Given the description of an element on the screen output the (x, y) to click on. 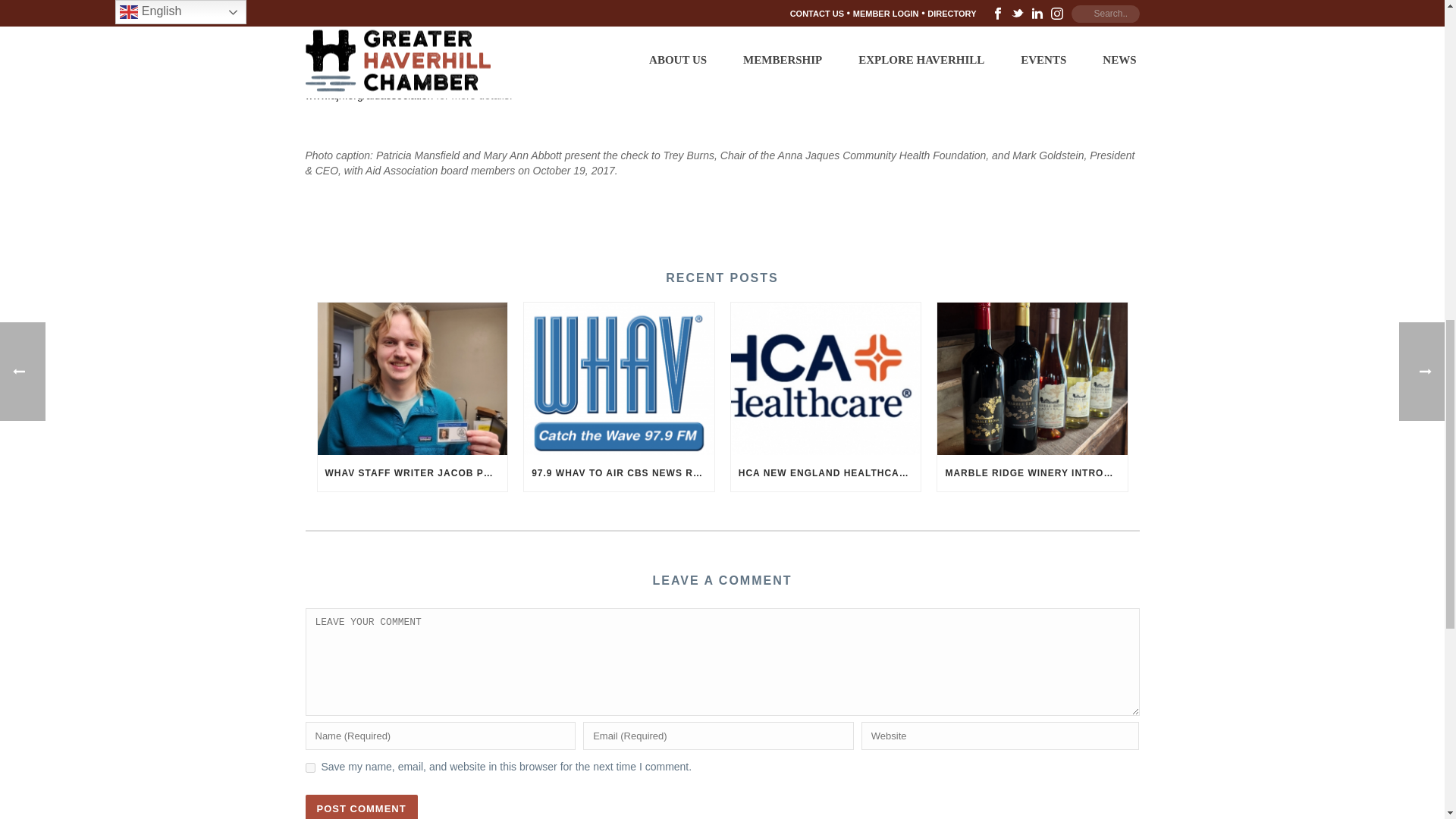
yes (309, 767)
POST COMMENT (360, 806)
